Given the description of an element on the screen output the (x, y) to click on. 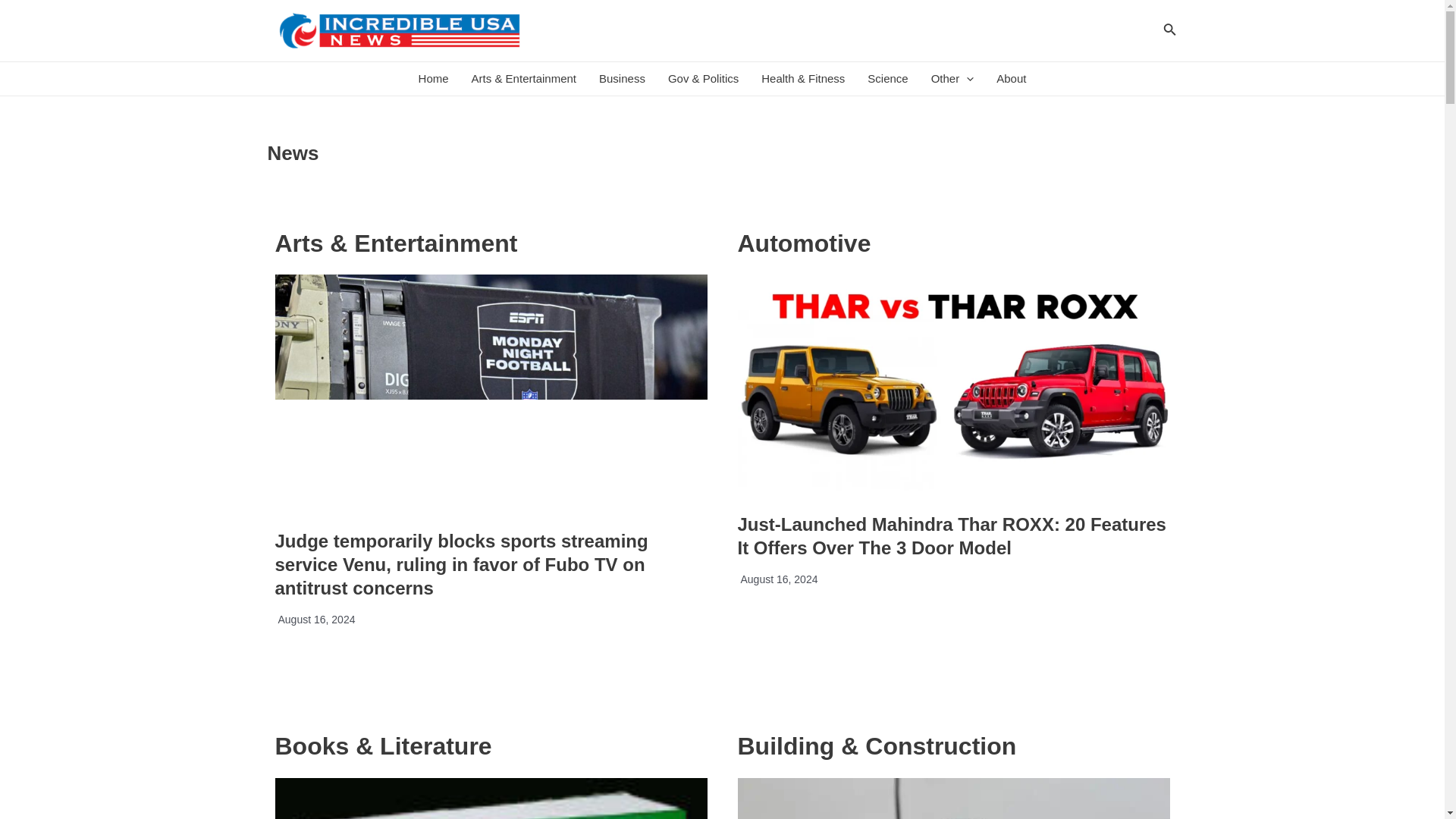
Other (952, 78)
Science (887, 78)
About (1010, 78)
Home (433, 78)
Business (622, 78)
